Given the description of an element on the screen output the (x, y) to click on. 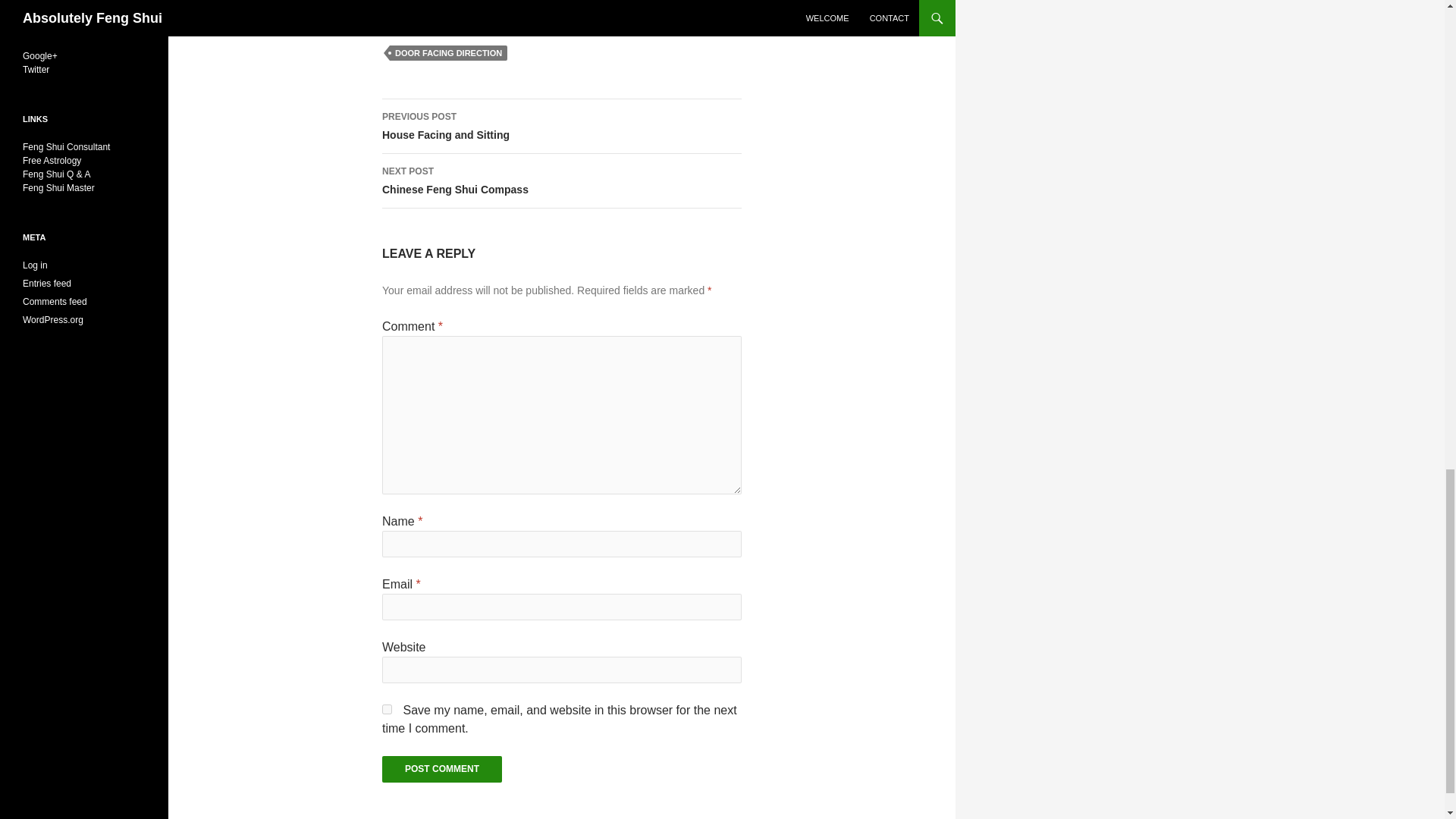
Post Comment (561, 180)
DOOR FACING DIRECTION (441, 768)
yes (448, 52)
Post Comment (386, 709)
